Given the description of an element on the screen output the (x, y) to click on. 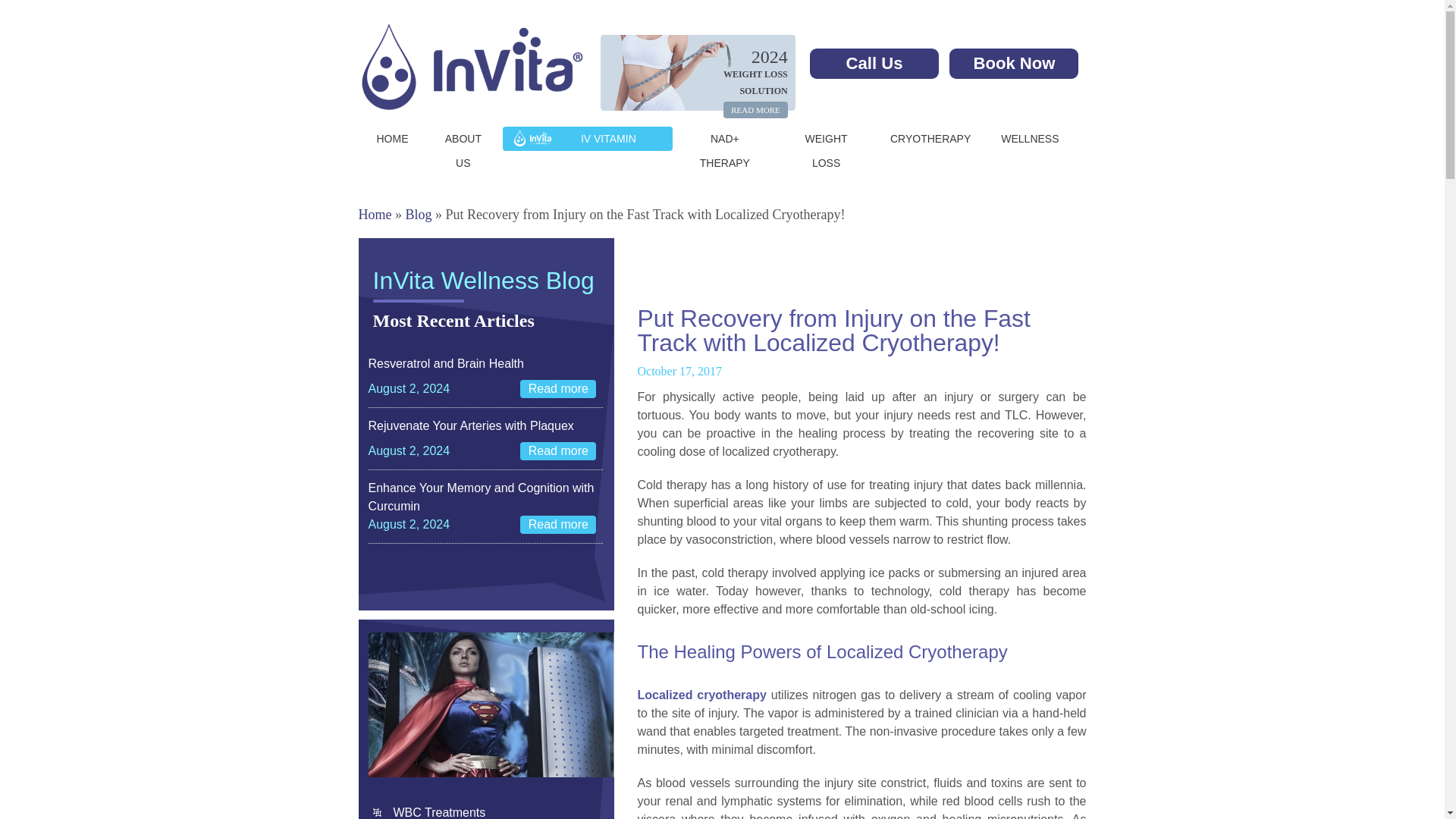
READ MORE (755, 109)
Book Now (1013, 63)
IV VITAMIN THERAPY (586, 150)
HOME (392, 138)
ABOUT US (462, 150)
WEIGHT LOSS (825, 150)
Call Us (874, 63)
